Given the description of an element on the screen output the (x, y) to click on. 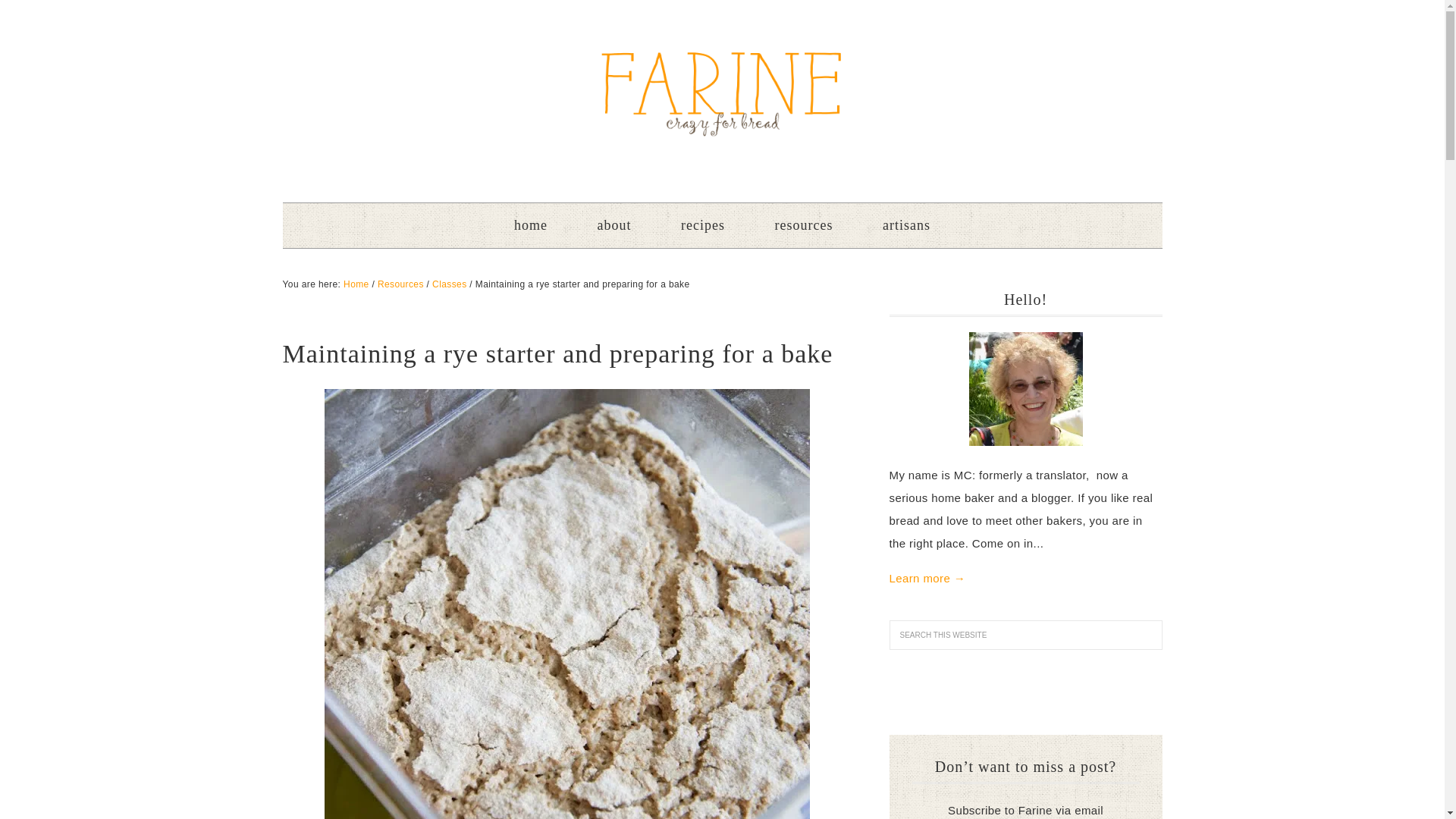
Home (356, 284)
Farine (721, 92)
home (531, 225)
about (614, 225)
recipes (703, 225)
Classes (448, 284)
Resources (400, 284)
resources (804, 225)
artisans (906, 225)
